Given the description of an element on the screen output the (x, y) to click on. 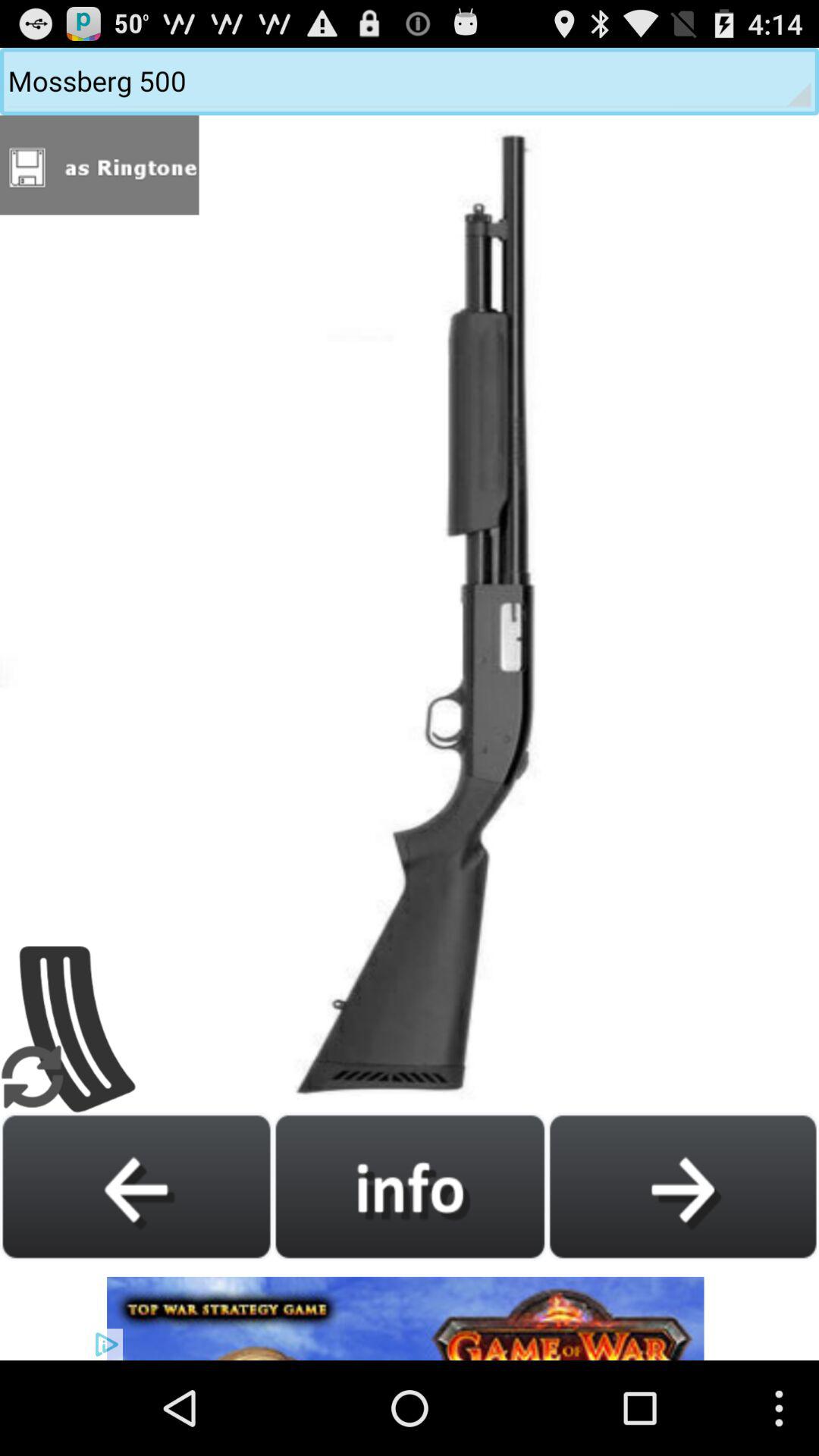
advertisement (409, 1310)
